Given the description of an element on the screen output the (x, y) to click on. 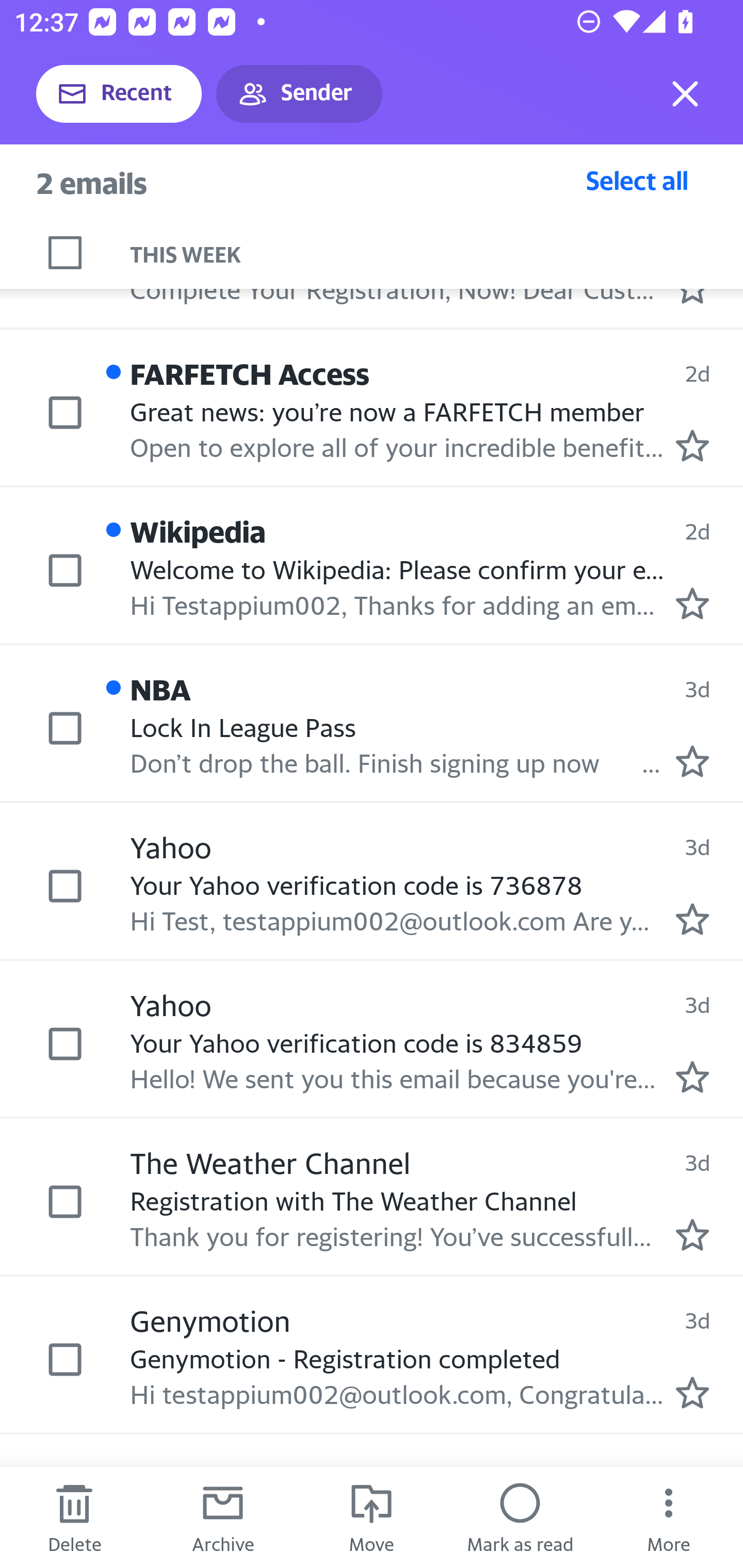
Sender (299, 93)
Exit selection mode (684, 93)
Select all (637, 180)
Mark as starred. (692, 446)
Mark as starred. (692, 602)
Mark as starred. (692, 761)
Mark as starred. (692, 919)
Mark as starred. (692, 1076)
Mark as starred. (692, 1234)
Mark as starred. (692, 1393)
Delete (74, 1517)
Archive (222, 1517)
Move (371, 1517)
Mark as read (519, 1517)
More (668, 1517)
